Given the description of an element on the screen output the (x, y) to click on. 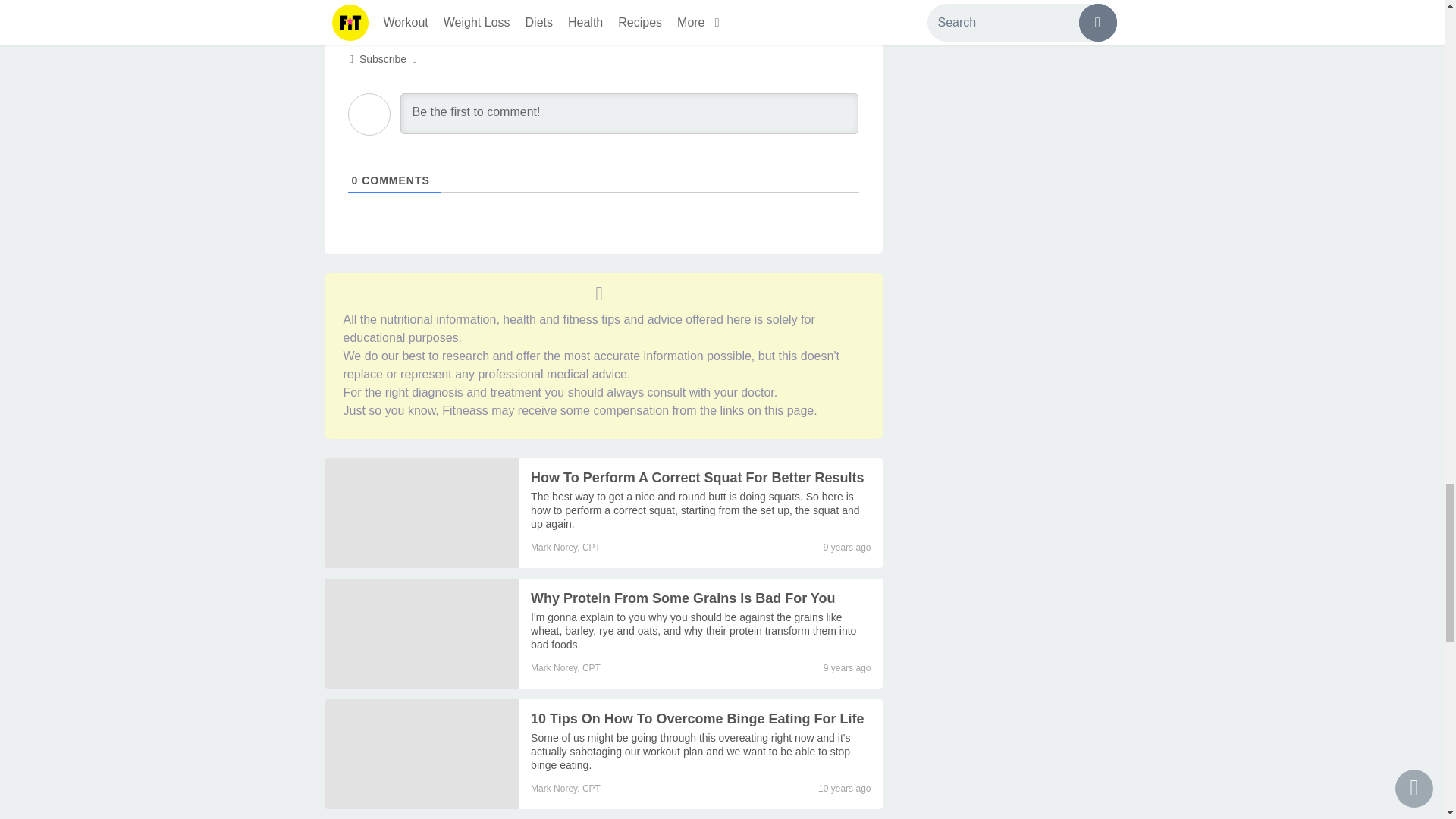
Why Protein From Some Grains Is Bad For You (693, 630)
10 Tips On How To Overcome Binge Eating For Life (421, 754)
How To Perform A Correct Squat For Better Results (695, 509)
Why Protein From Some Grains Is Bad For You (421, 633)
Why Protein From Some Grains Is Bad For You (682, 598)
How To Perform A Correct Squat For Better Results (697, 477)
10 Tips On How To Overcome Binge Eating For Life (697, 718)
How To Perform A Correct Squat For Better Results (421, 512)
10 Tips On How To Overcome Binge Eating For Life (690, 751)
